Given the description of an element on the screen output the (x, y) to click on. 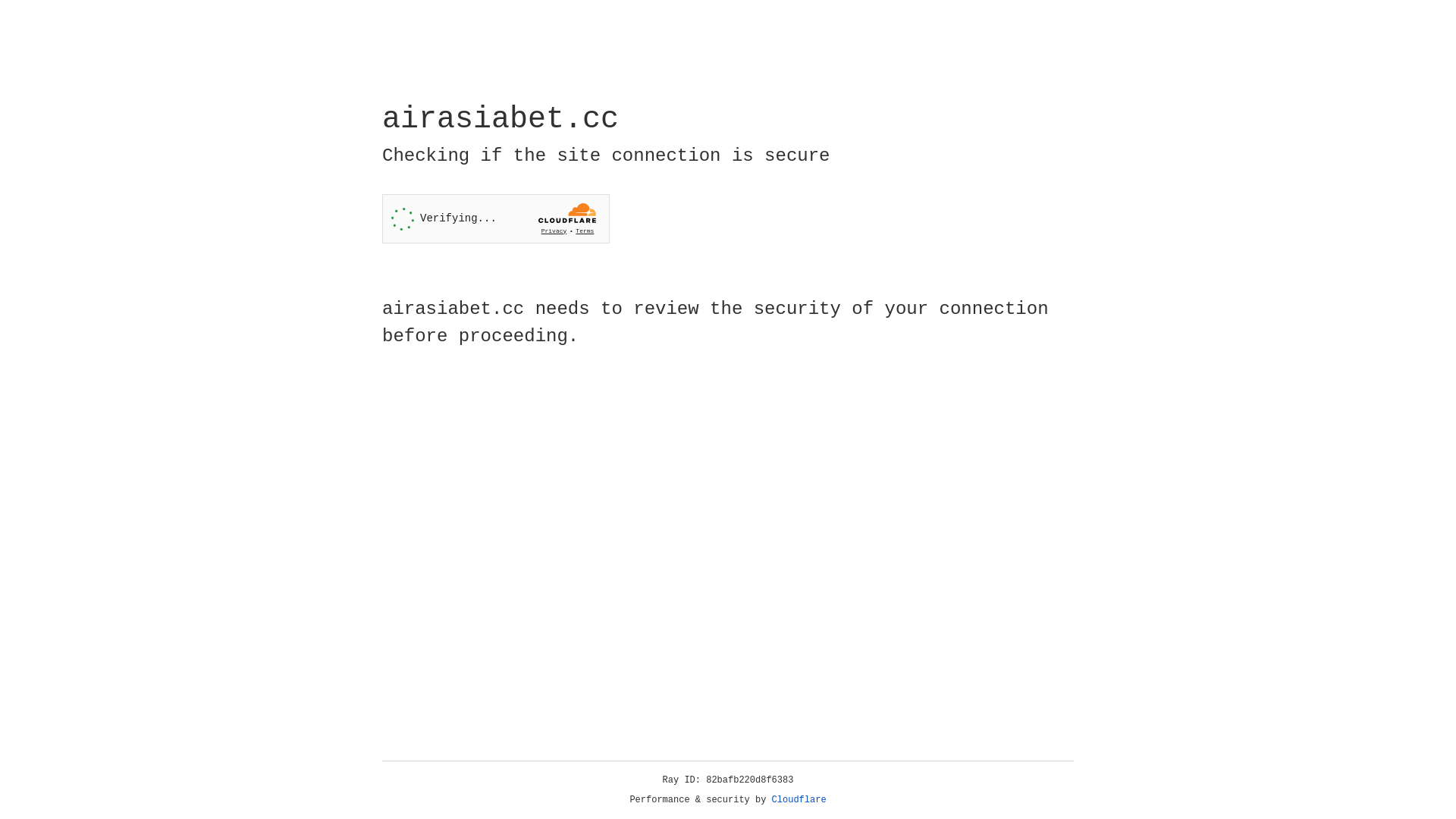
Widget containing a Cloudflare security challenge Element type: hover (495, 218)
Cloudflare Element type: text (798, 799)
